Given the description of an element on the screen output the (x, y) to click on. 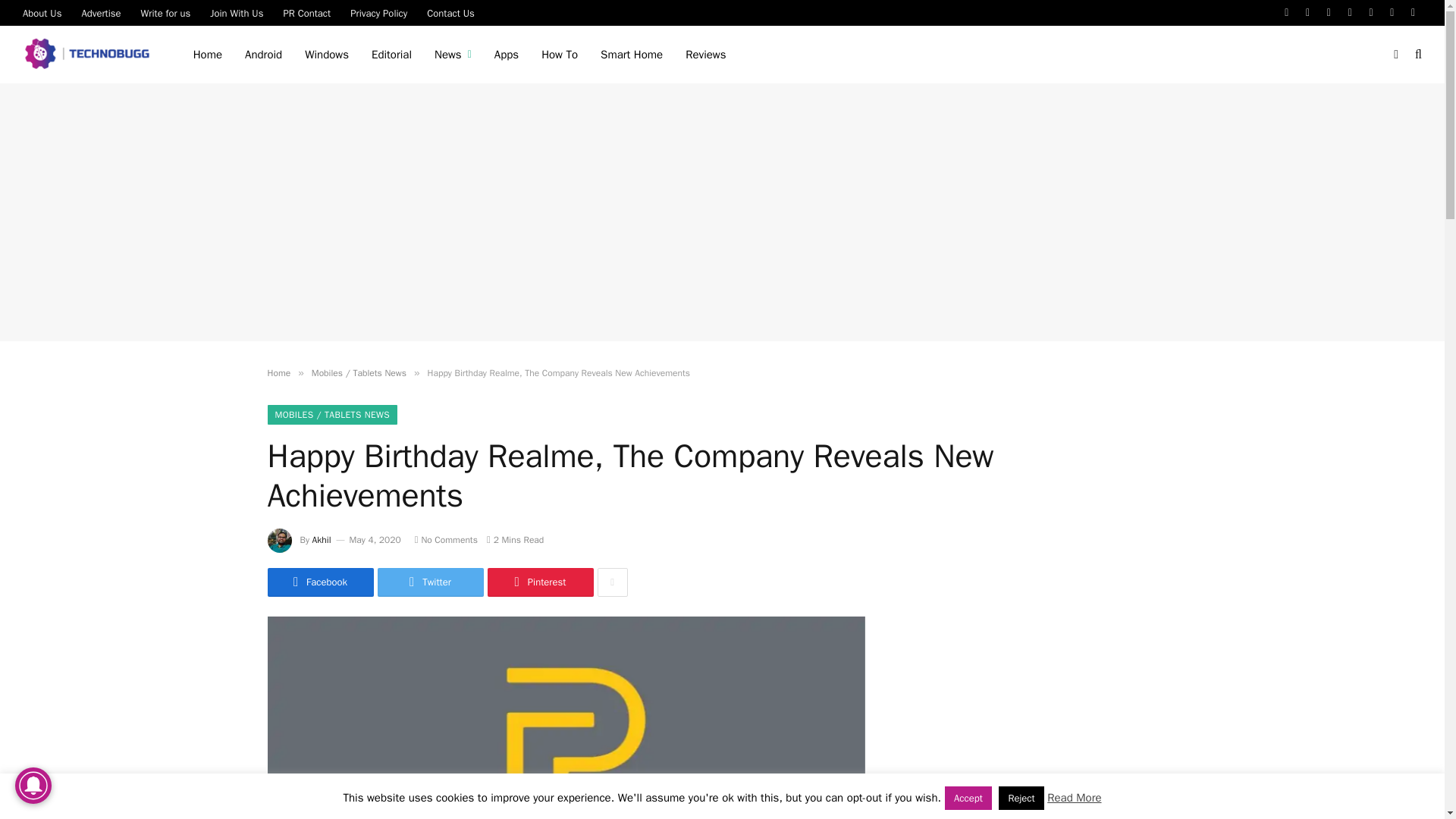
Smart Home (631, 54)
Contact Us (450, 12)
Editorial (391, 54)
Share on Pinterest (539, 582)
Home (207, 54)
How To (559, 54)
Privacy Policy (378, 12)
Android (263, 54)
Share on Facebook (319, 582)
